Given the description of an element on the screen output the (x, y) to click on. 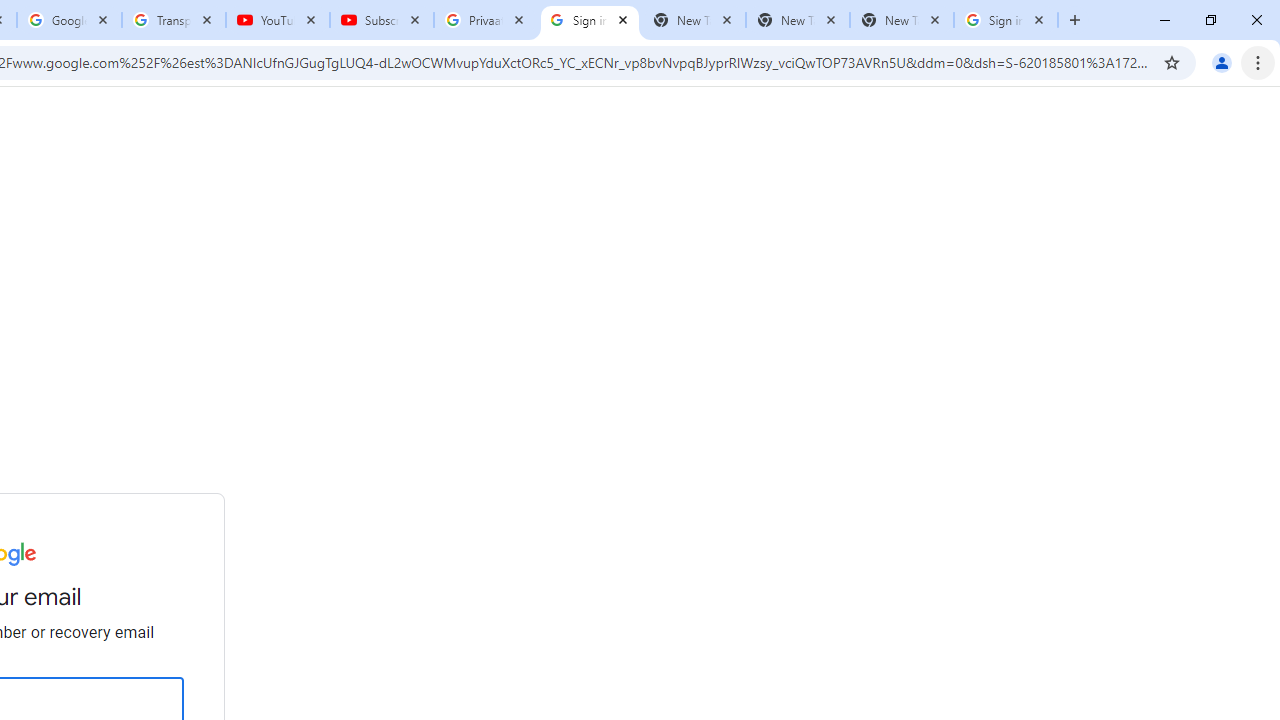
Subscriptions - YouTube (381, 20)
Chrome (1260, 62)
Sign in - Google Accounts (1005, 20)
Bookmark this tab (1171, 62)
Google Account (68, 20)
Sign in - Google Accounts (589, 20)
YouTube (278, 20)
Minimize (1165, 20)
New Tab (1075, 20)
New Tab (901, 20)
You (1221, 62)
Restore (1210, 20)
